Given the description of an element on the screen output the (x, y) to click on. 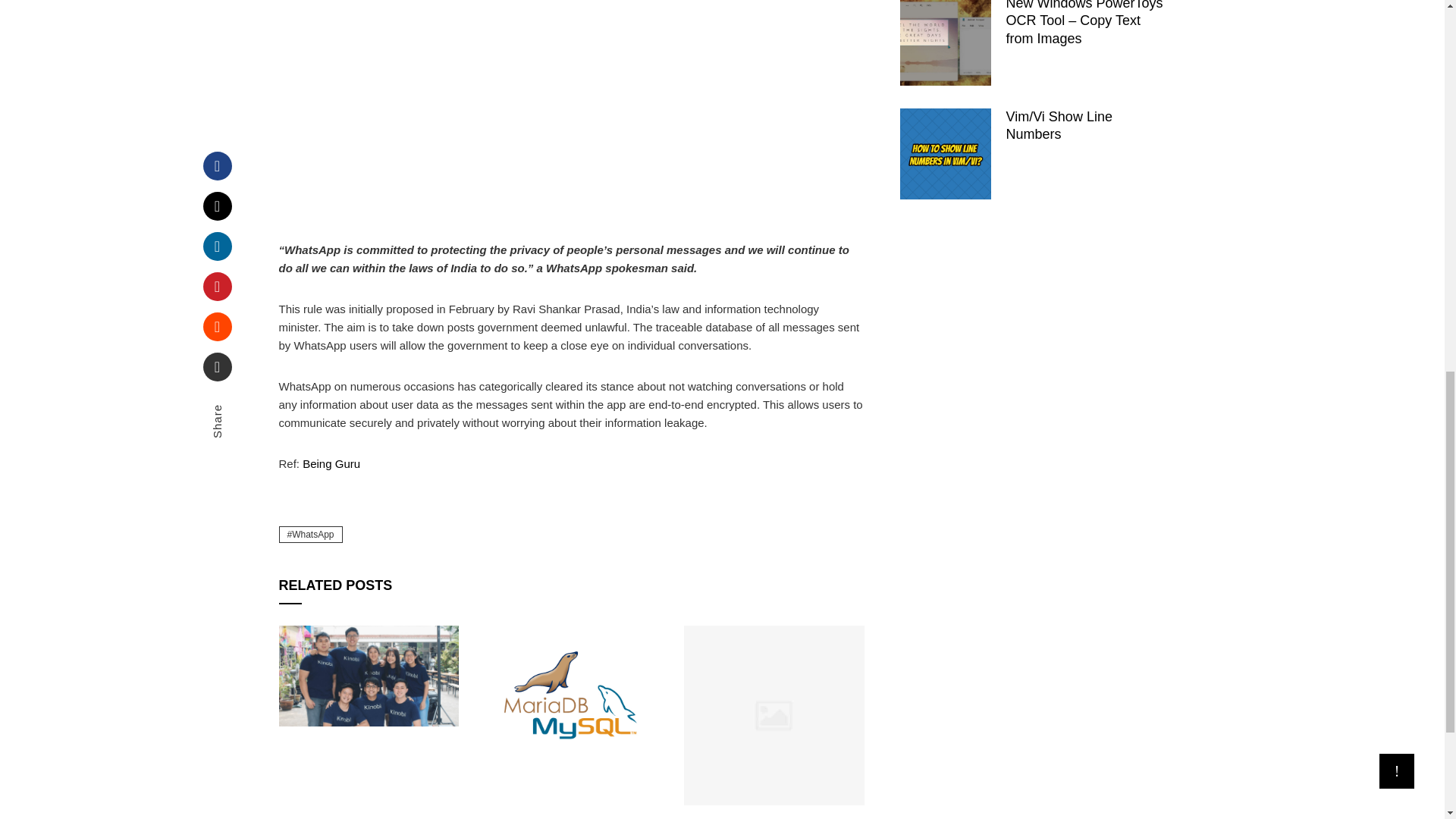
Being Guru (330, 463)
WhatsApp (310, 534)
